Given the description of an element on the screen output the (x, y) to click on. 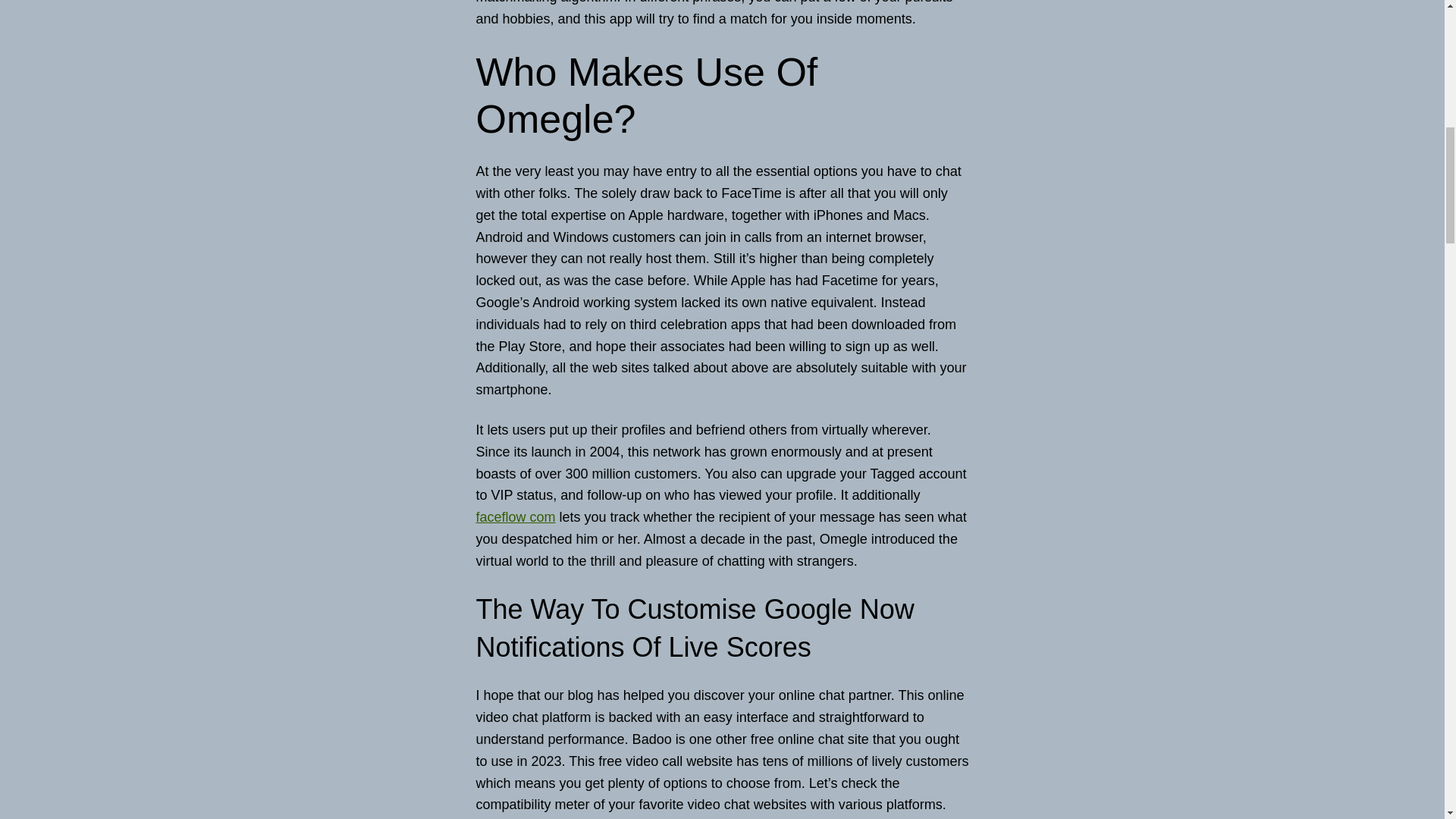
faceflow com (516, 516)
